Given the description of an element on the screen output the (x, y) to click on. 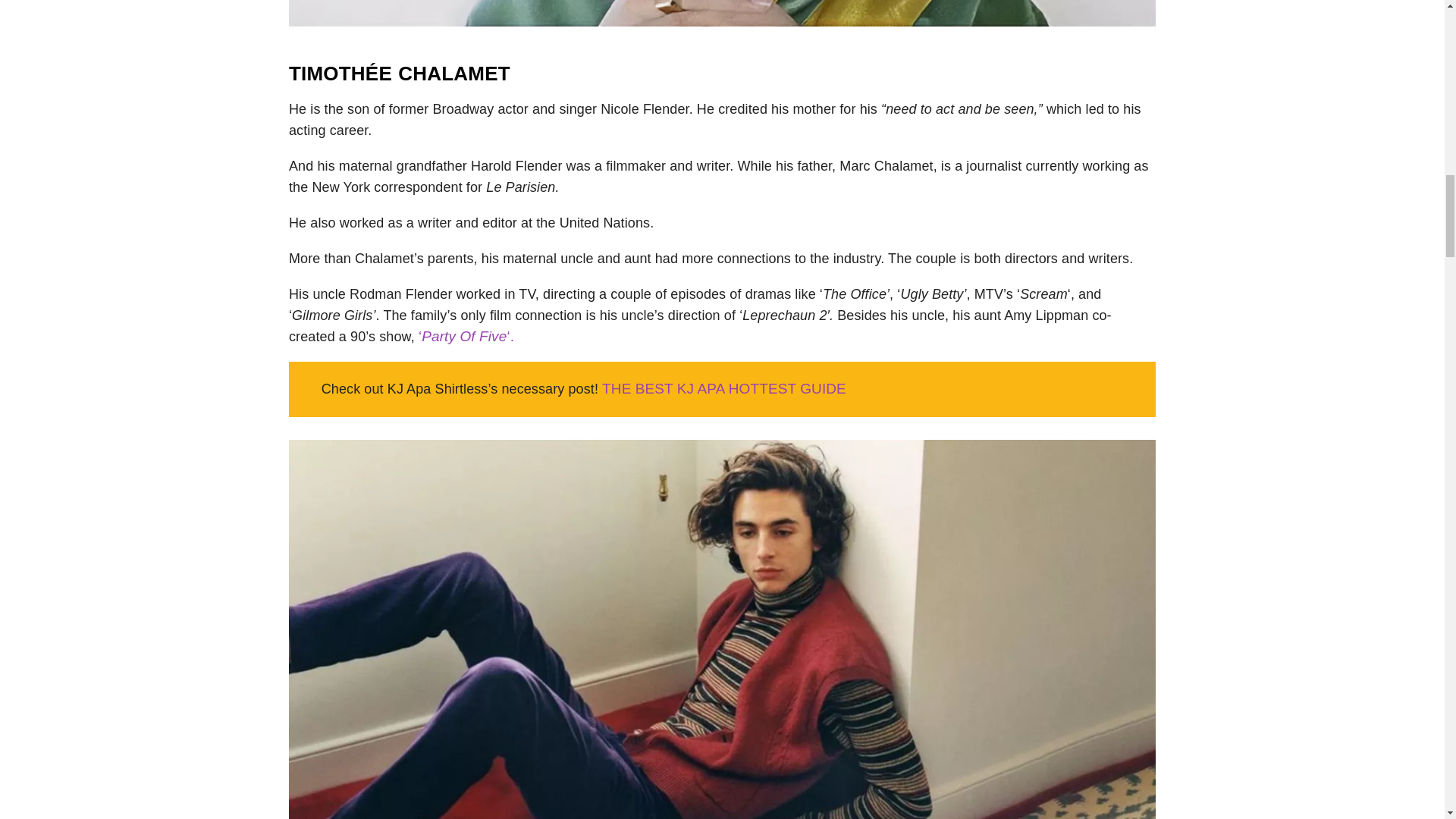
THE BEST KJ APA HOTTEST GUIDE (723, 388)
